Given the description of an element on the screen output the (x, y) to click on. 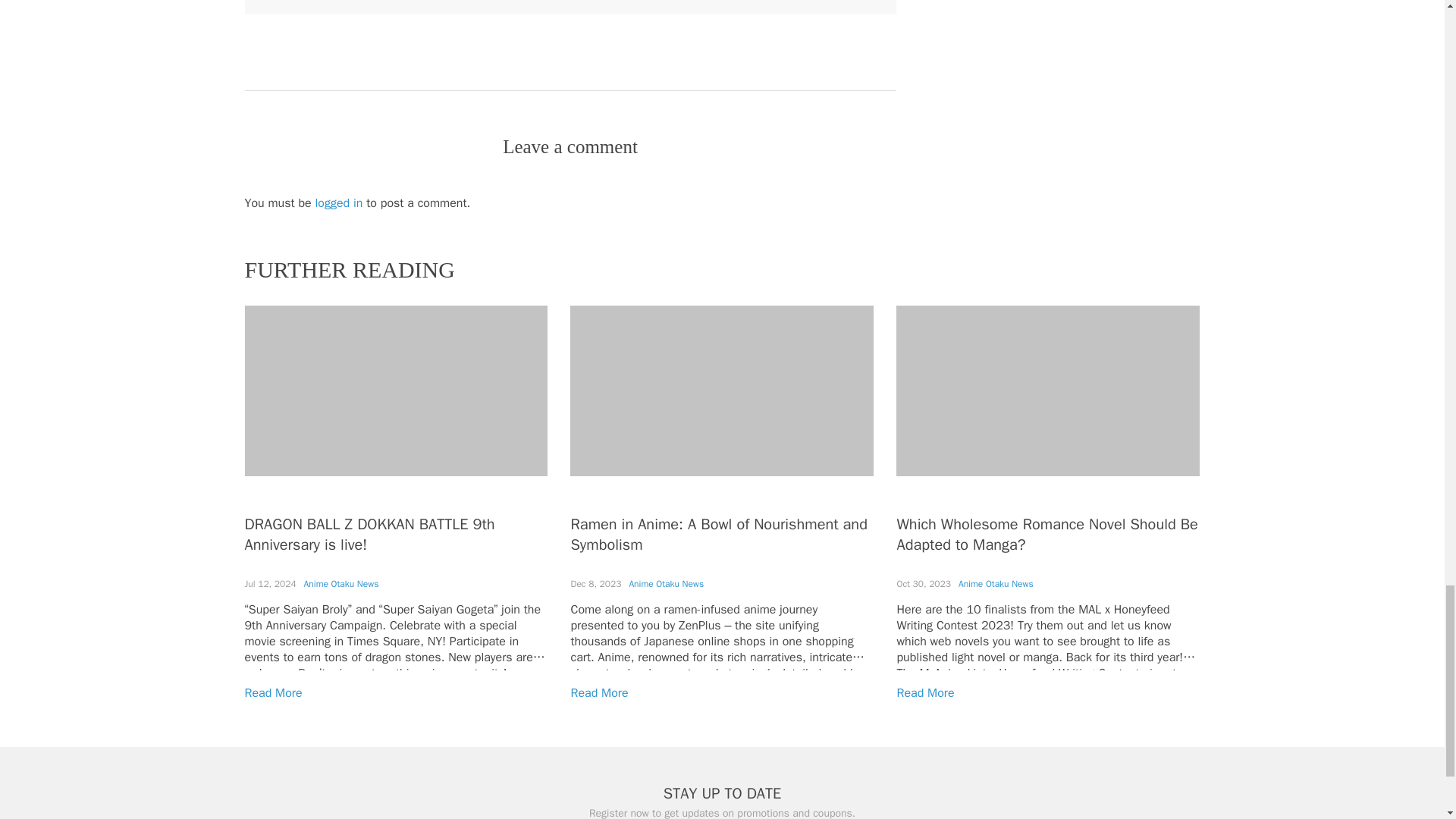
Which Wholesome Romance Novel Should Be Adapted to Manga? (1046, 534)
Read More (598, 693)
logged in (338, 202)
Anime Otaku News (341, 583)
Read More (924, 693)
DRAGON BALL Z DOKKAN BATTLE 9th Anniversary is live! (369, 534)
Ramen in Anime: A Bowl of Nourishment and Symbolism (718, 534)
Read More (272, 693)
Anime Otaku News (995, 583)
Anime Otaku News (665, 583)
